Given the description of an element on the screen output the (x, y) to click on. 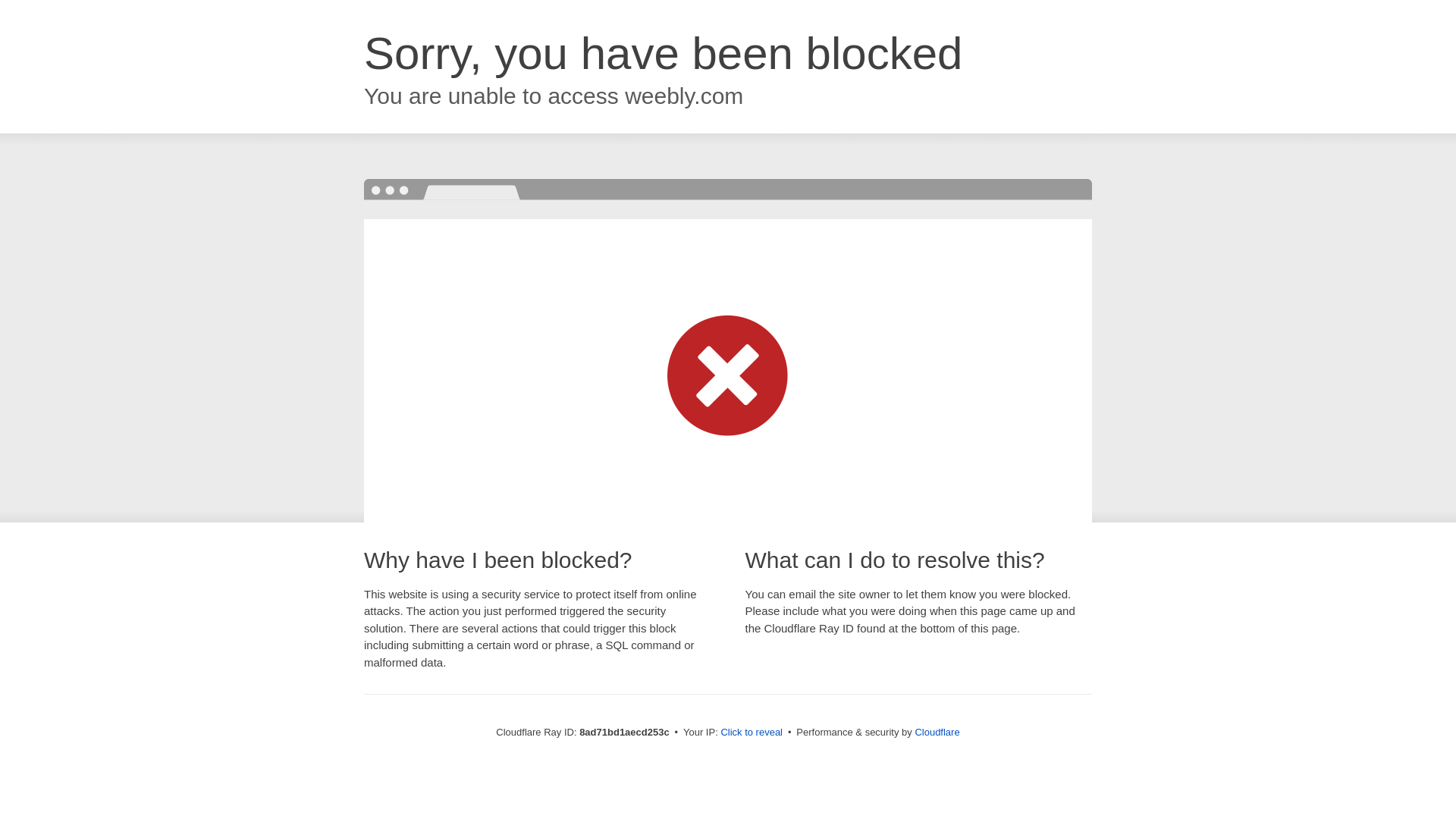
Click to reveal (751, 732)
Cloudflare (936, 731)
